Given the description of an element on the screen output the (x, y) to click on. 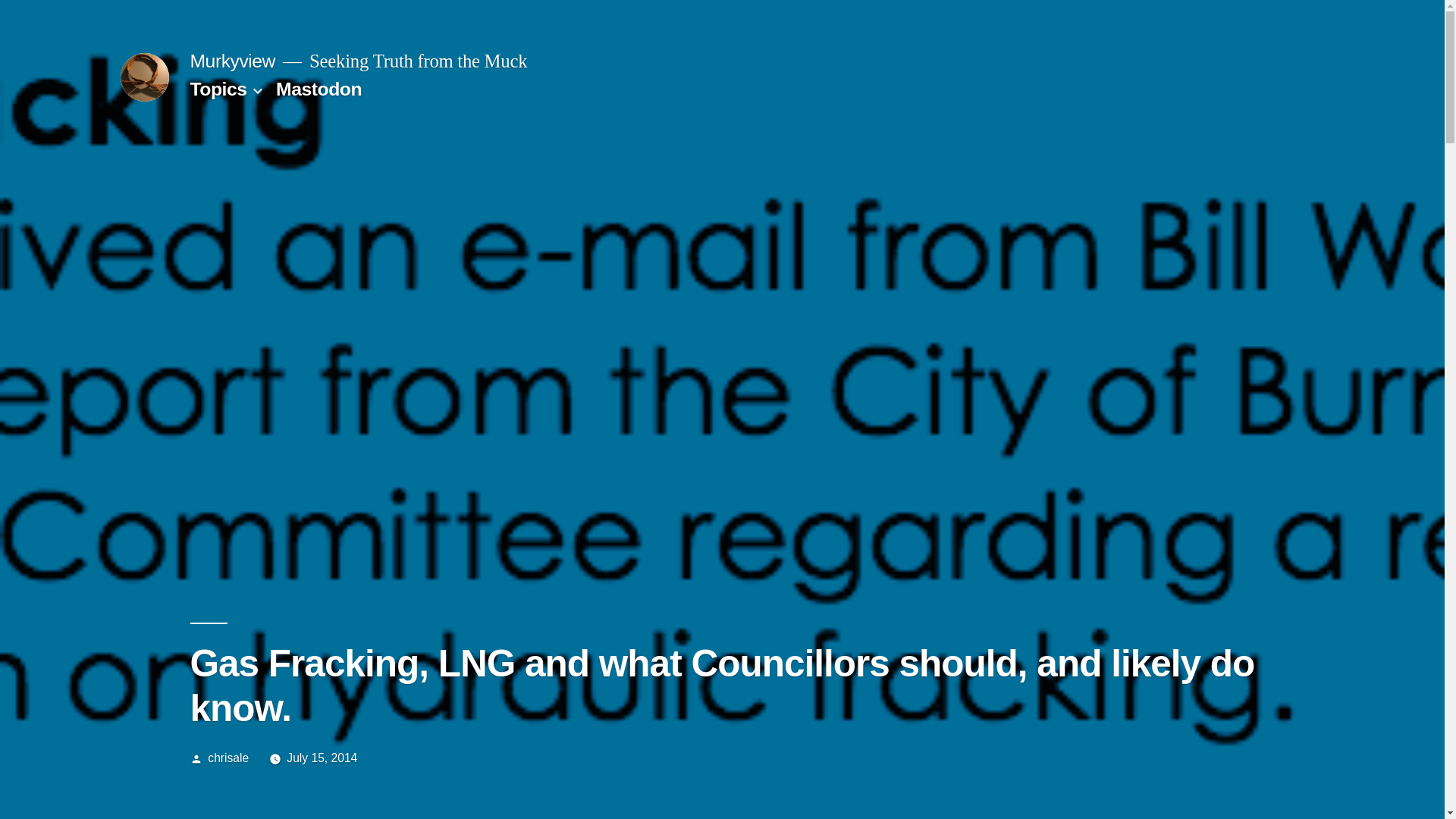
Topics (217, 88)
Murkyview (232, 60)
Mastodon (318, 88)
July 15, 2014 (321, 757)
chrisale (228, 757)
